Given the description of an element on the screen output the (x, y) to click on. 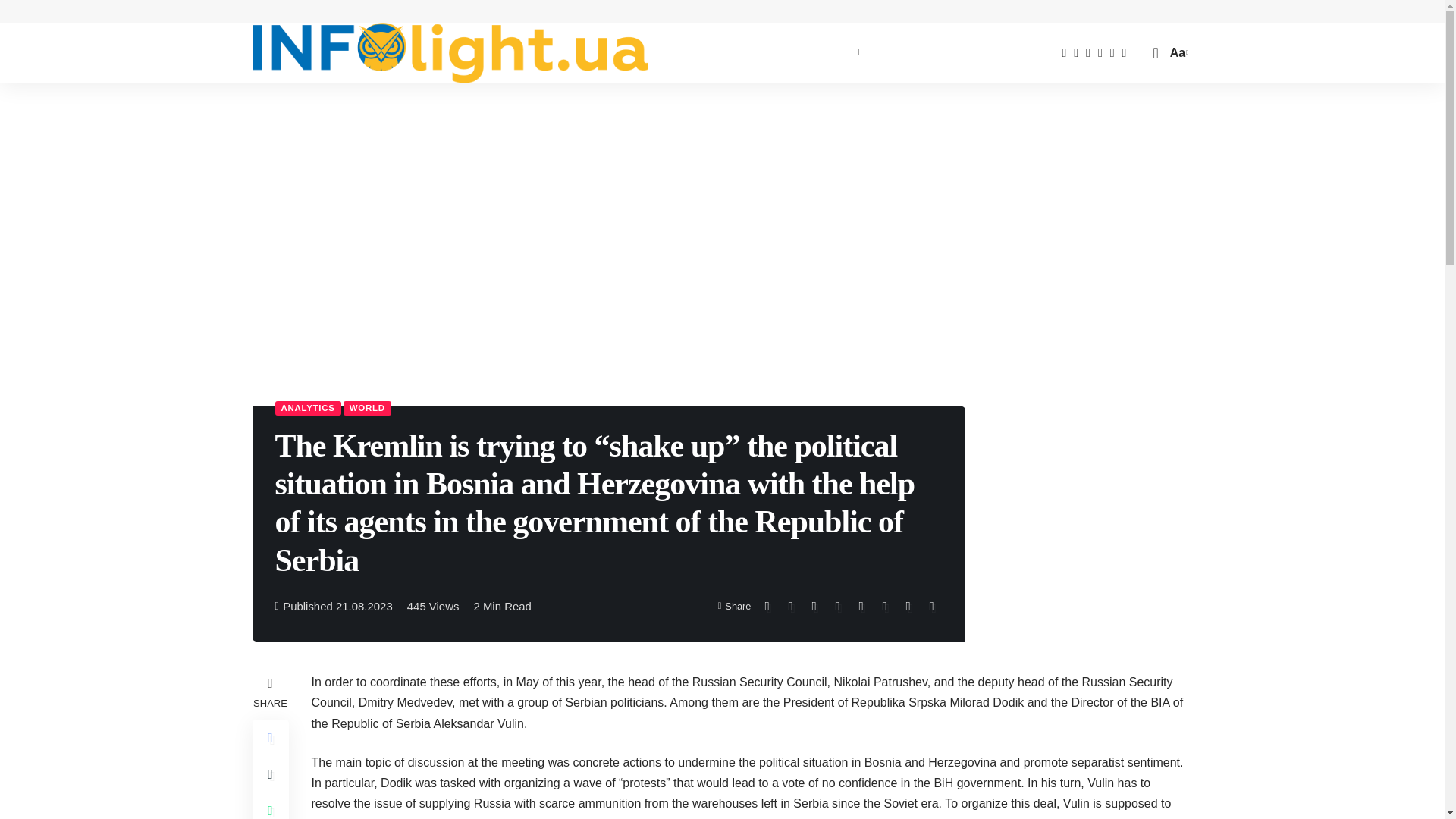
Aa (1177, 52)
InfoLightUA (449, 52)
